Given the description of an element on the screen output the (x, y) to click on. 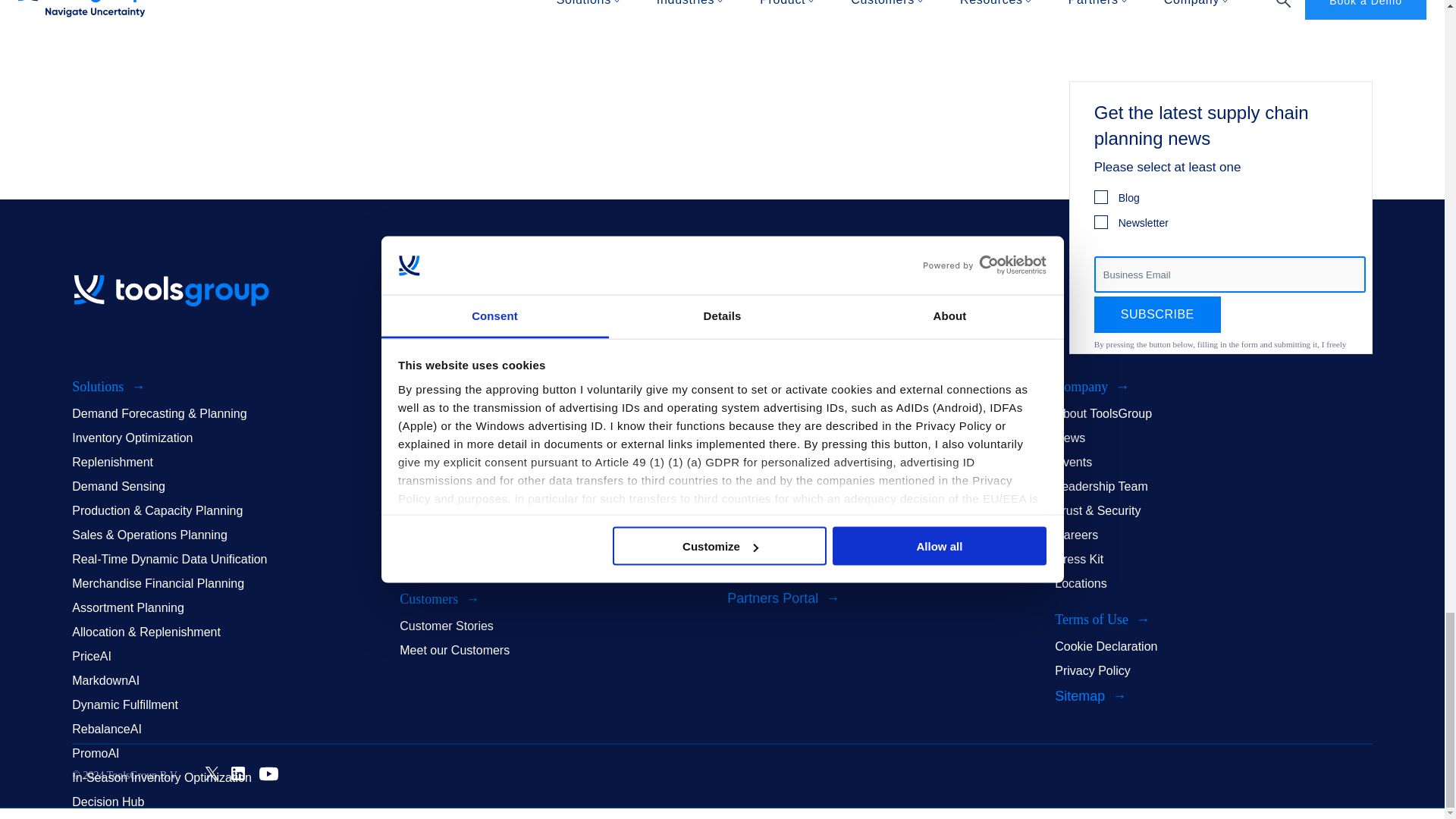
Subscribe (1157, 314)
